Given the description of an element on the screen output the (x, y) to click on. 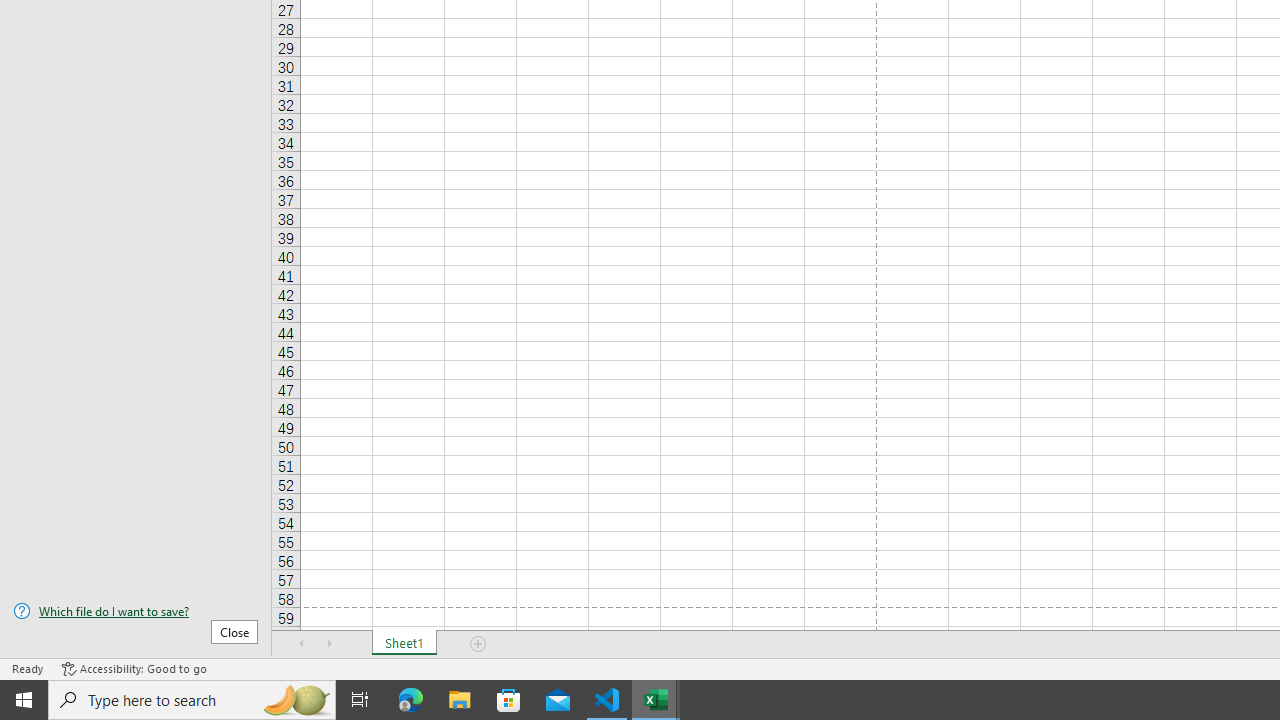
Which file do I want to save? (136, 611)
